Given the description of an element on the screen output the (x, y) to click on. 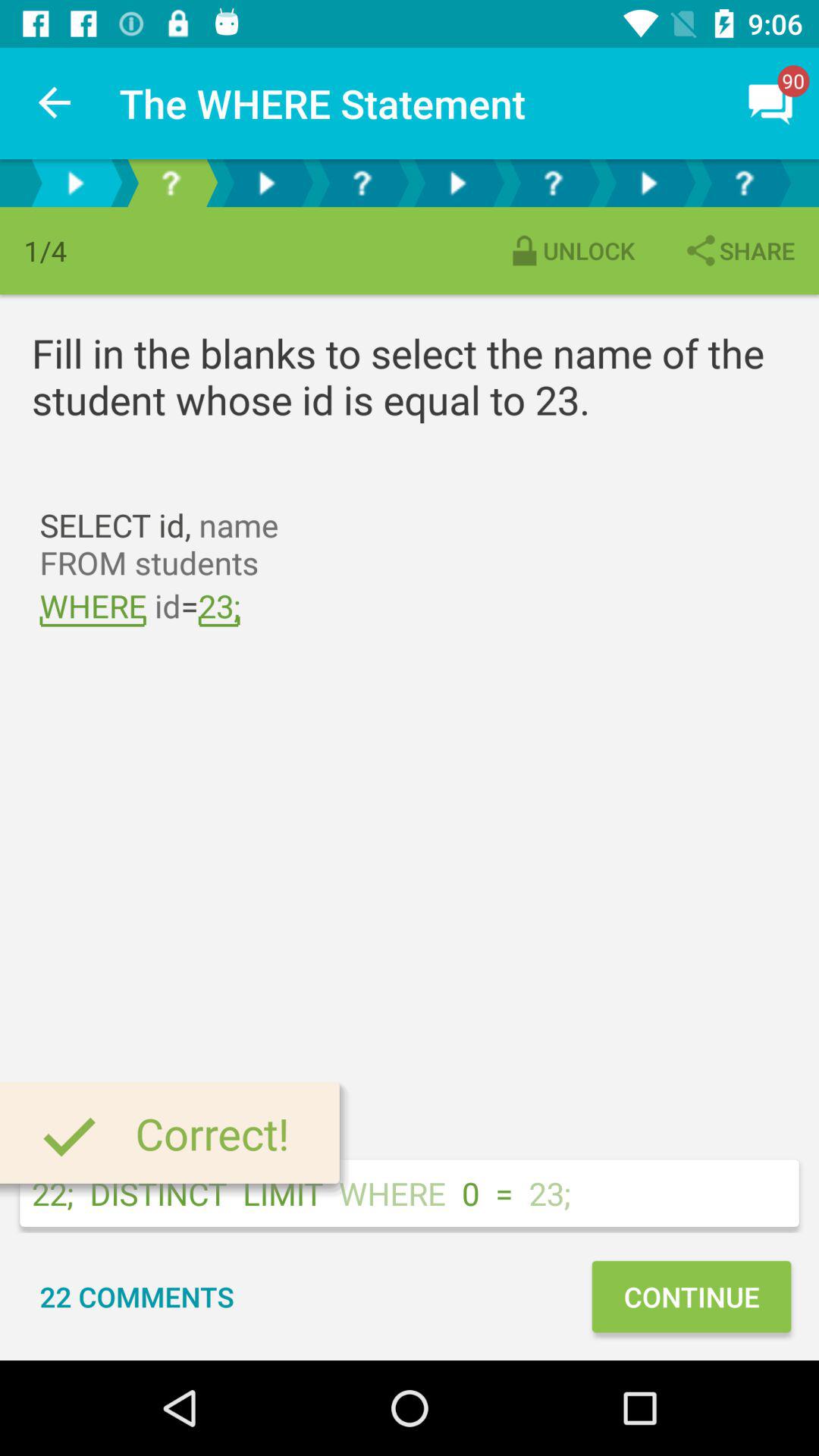
open item above the fill in the icon (738, 250)
